Given the description of an element on the screen output the (x, y) to click on. 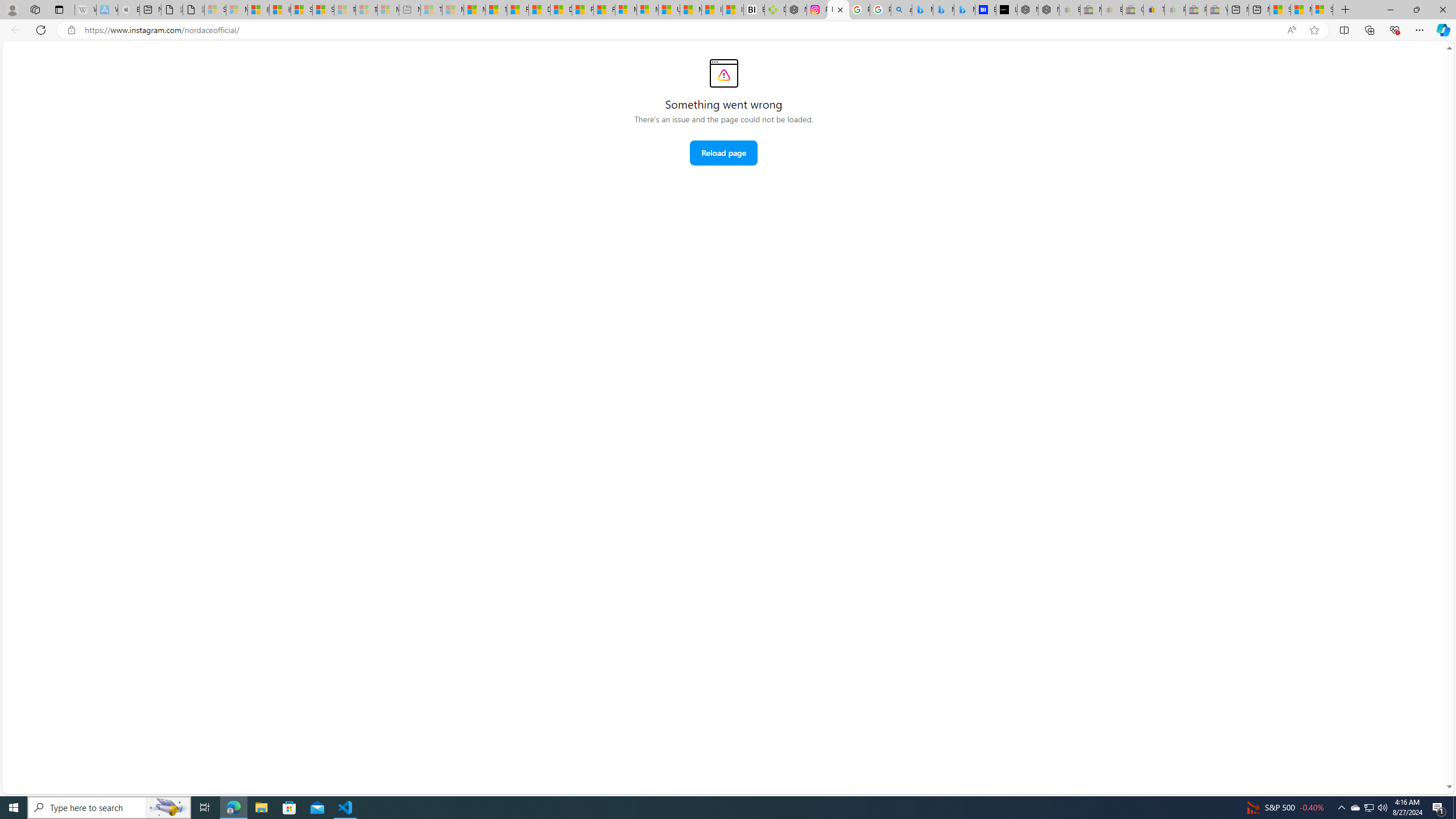
Microsoft Services Agreement - Sleeping (236, 9)
Sign in to your Microsoft account - Sleeping (215, 9)
Drinking tea every day is proven to delay biological aging (561, 9)
